Given the description of an element on the screen output the (x, y) to click on. 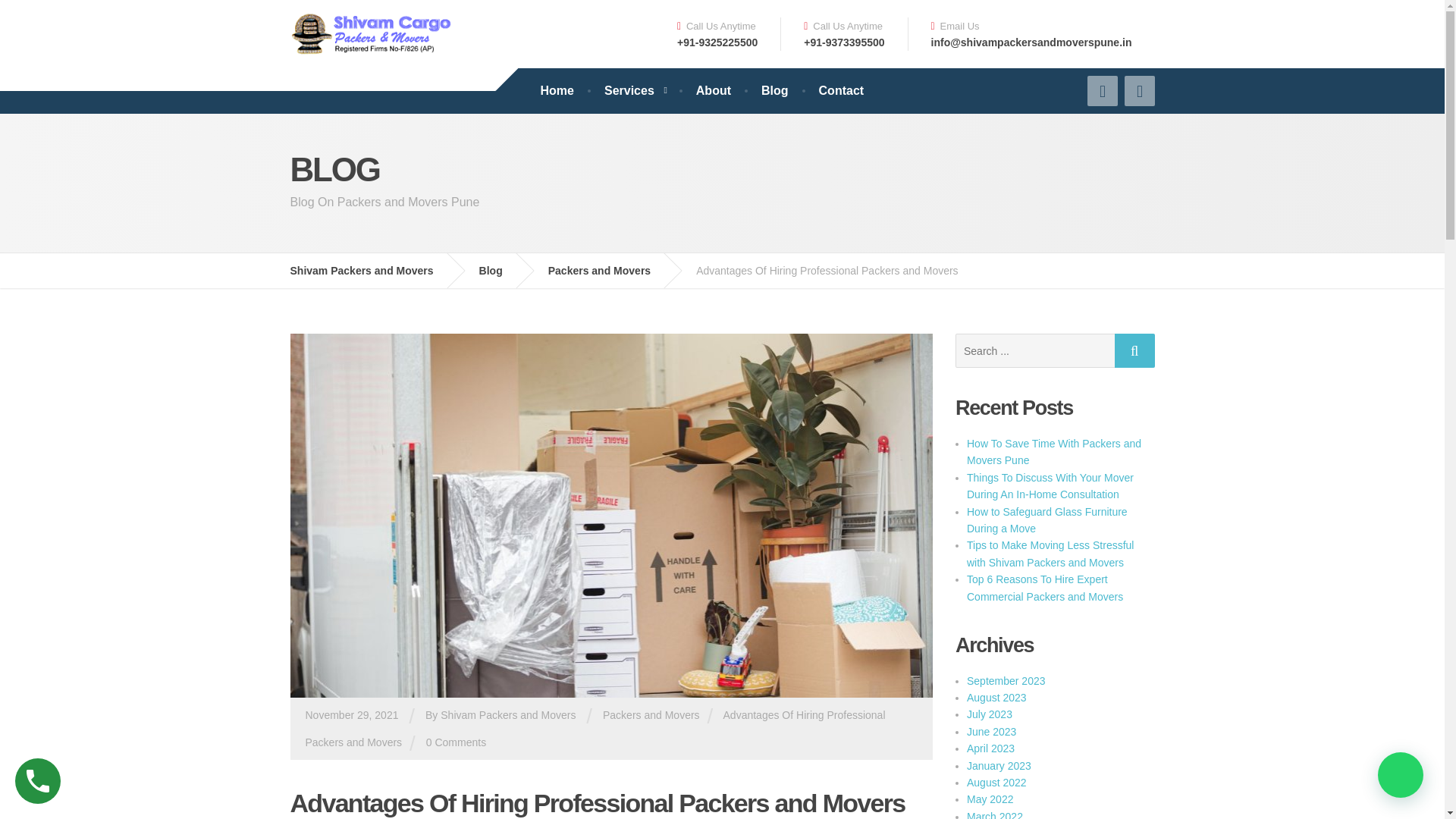
August 2022 (996, 782)
April 2023 (990, 748)
Go to Shivam Packers and Movers. (372, 270)
Top 6 Reasons To Hire Expert Commercial Packers and Movers (1044, 587)
Go to Blog. (502, 270)
July 2023 (988, 714)
About (713, 90)
January 2023 (998, 766)
How To Save Time With Packers and Movers Pune (1053, 451)
Advantages Of Hiring Professional Packers and Movers (594, 728)
Services (635, 90)
Shivam Packers and Movers (372, 270)
Blog (774, 90)
August 2023 (996, 697)
